Given the description of an element on the screen output the (x, y) to click on. 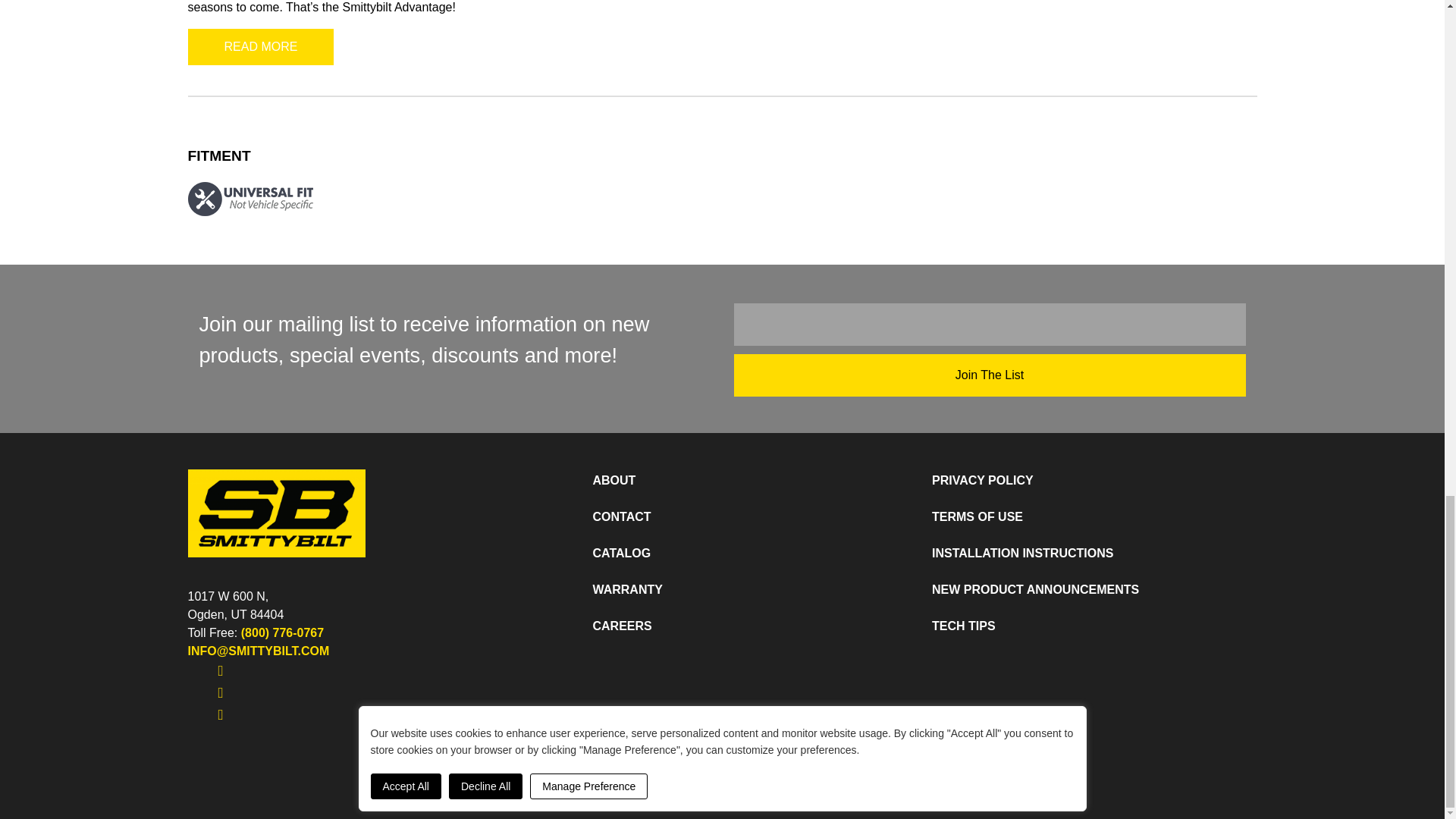
Join The List (989, 374)
